Given the description of an element on the screen output the (x, y) to click on. 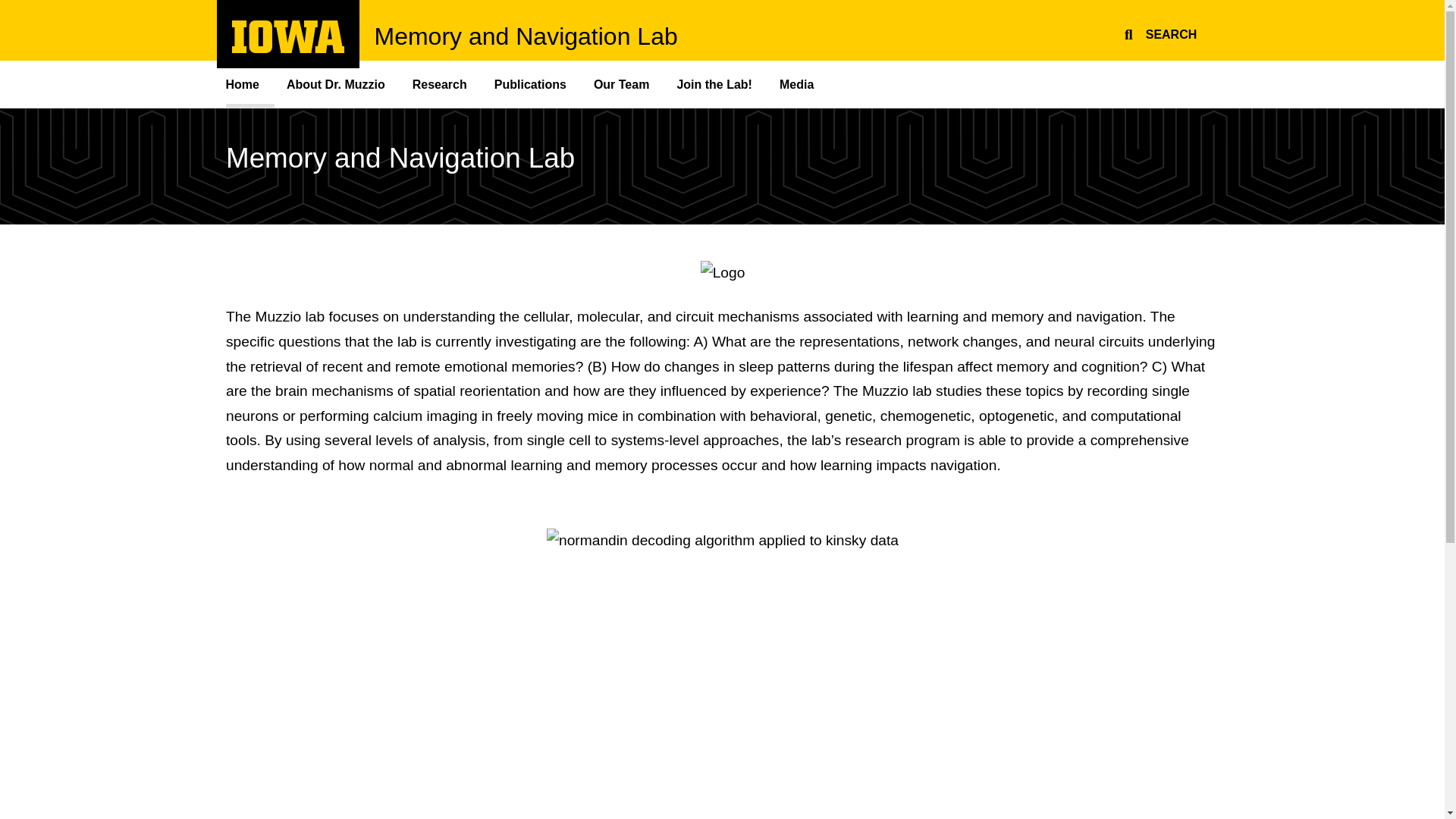
Skip to main content (7, 7)
SEARCH (1157, 32)
Media (797, 83)
University of Iowa (288, 36)
Home (250, 83)
Information on our team (622, 83)
About Dr. Muzzio (337, 83)
Memory and Navigation Lab (288, 48)
Publications (526, 36)
Our Team (530, 83)
Research (622, 83)
Join the Lab! (440, 83)
